Given the description of an element on the screen output the (x, y) to click on. 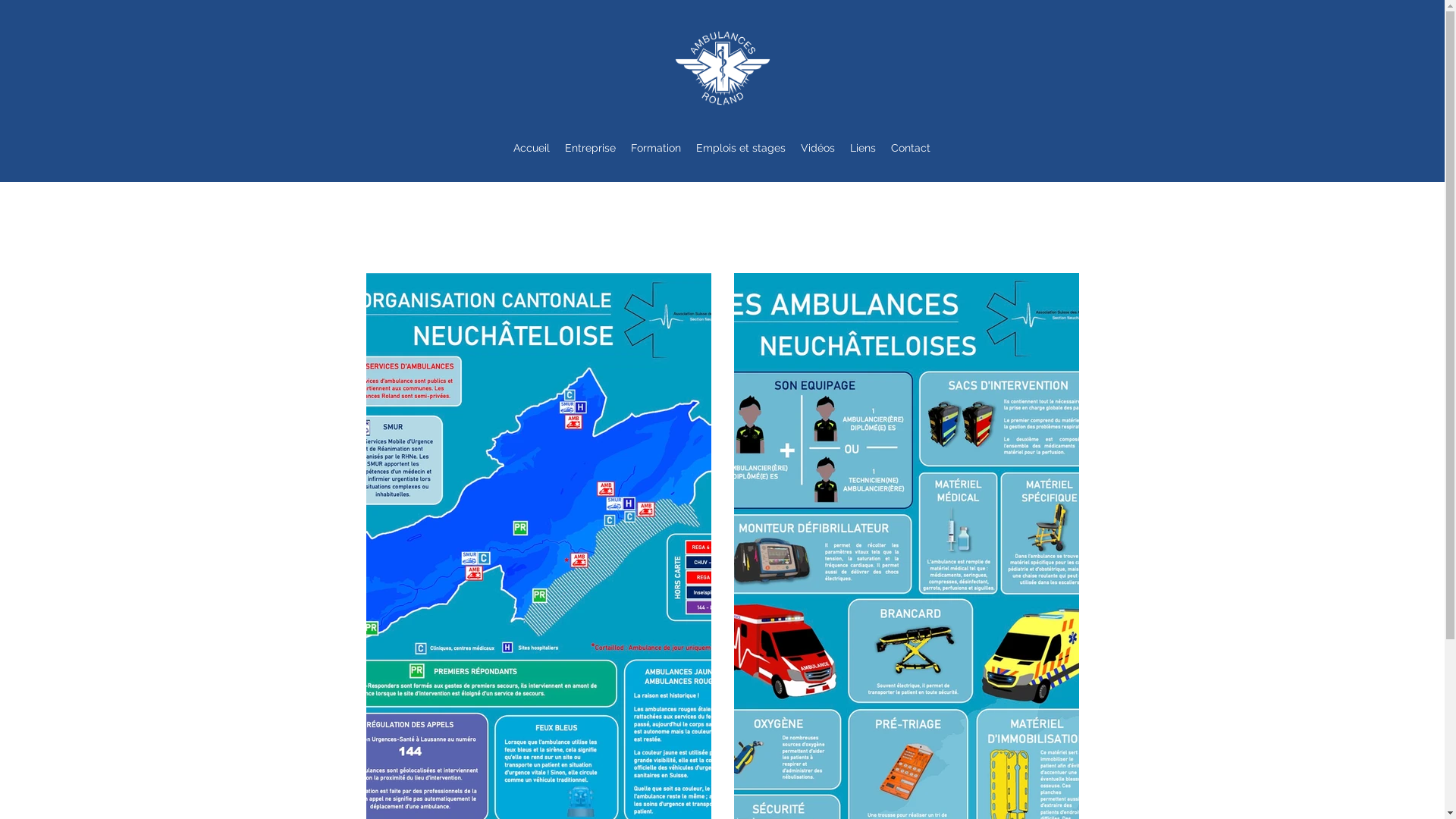
Contact Element type: text (910, 147)
Entreprise Element type: text (590, 147)
Formation Element type: text (655, 147)
Emplois et stages Element type: text (740, 147)
Liens Element type: text (862, 147)
Accueil Element type: text (531, 147)
